Given the description of an element on the screen output the (x, y) to click on. 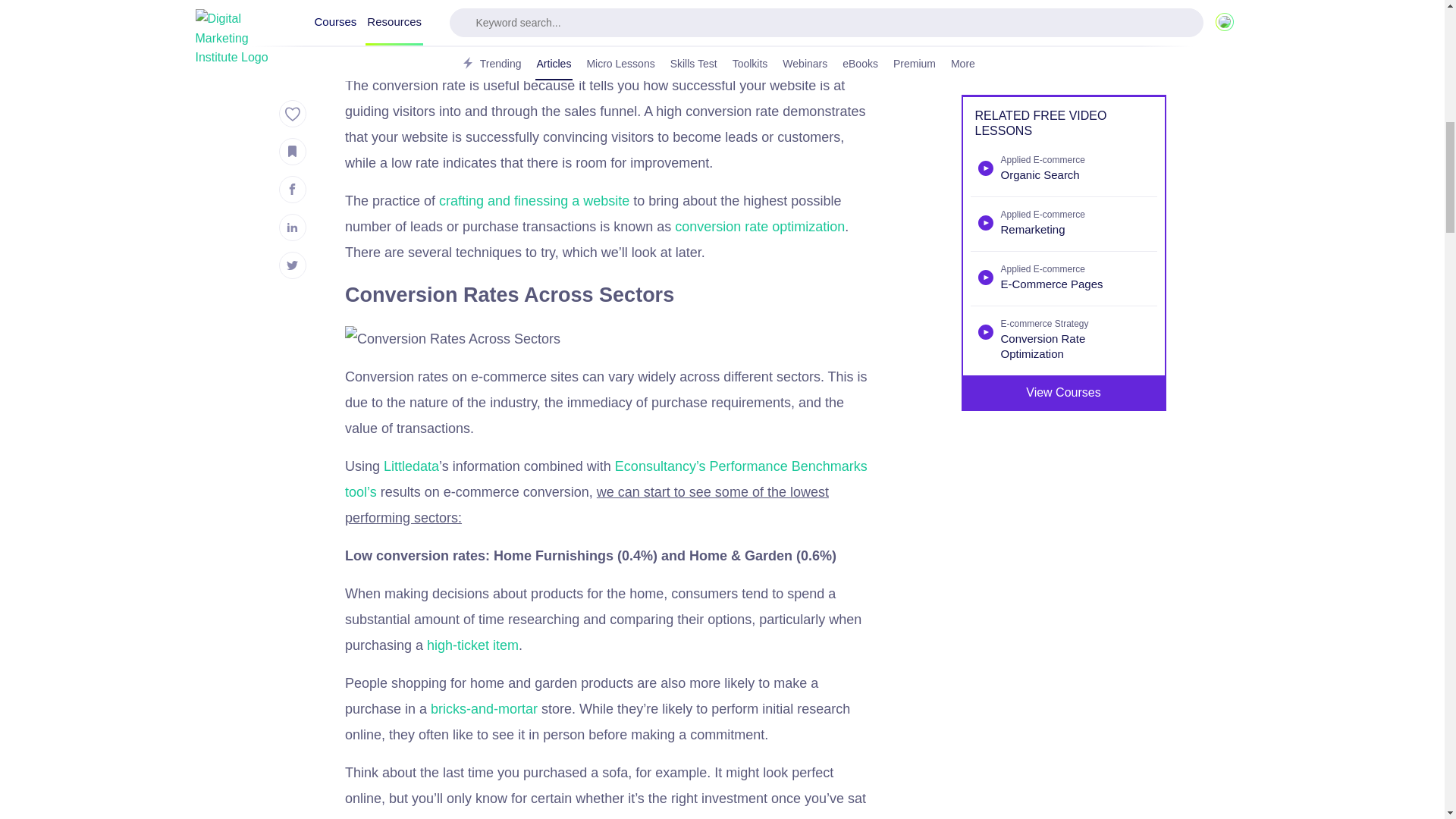
high-ticket item (472, 645)
crafting and finessing a website (531, 200)
Littledata (411, 466)
bricks-and-mortar (483, 708)
conversion rate optimization (759, 226)
